Given the description of an element on the screen output the (x, y) to click on. 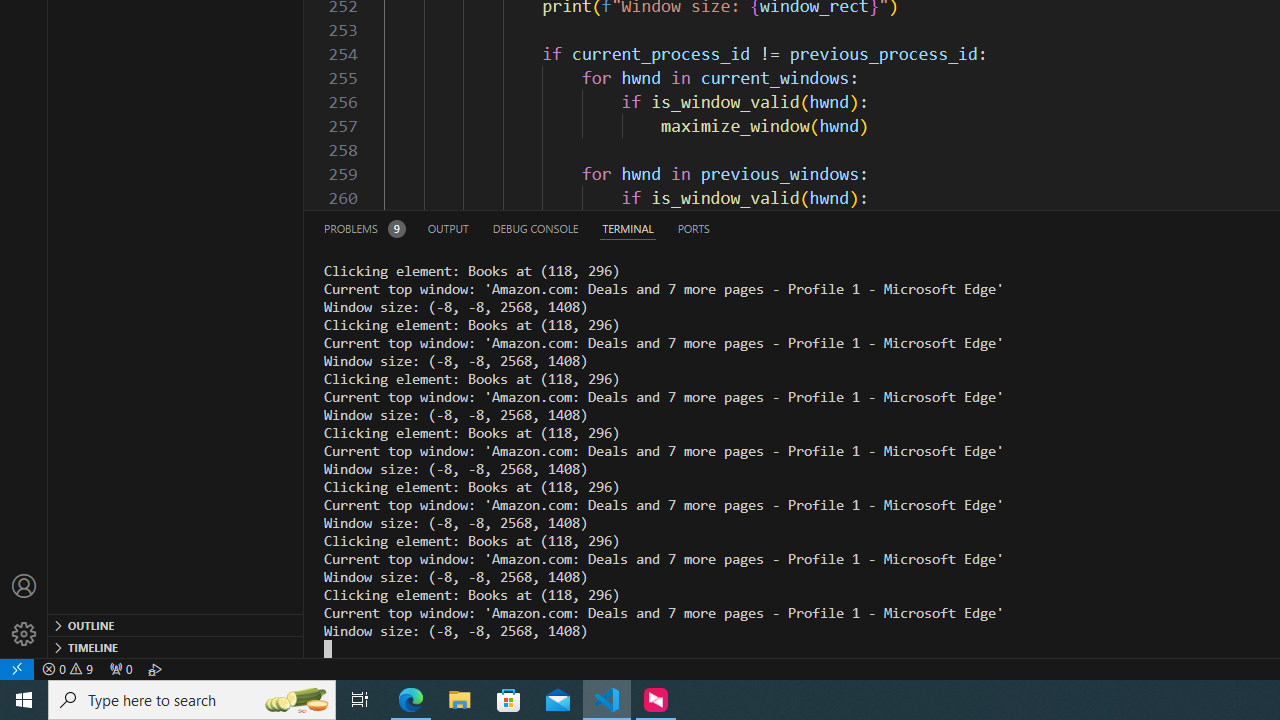
Outline Section (175, 624)
Manage (24, 633)
Accounts (24, 585)
Terminal (Ctrl+`) (627, 228)
Problems (Ctrl+Shift+M) - Total 9 Problems (364, 228)
Debug Console (Ctrl+Shift+Y) (535, 228)
Output (Ctrl+Shift+U) (447, 228)
No Ports Forwarded (120, 668)
Manage (24, 610)
Debug:  (155, 668)
remote (17, 668)
Timeline Section (175, 646)
Ports (693, 228)
Warnings: 9 (67, 668)
